Given the description of an element on the screen output the (x, y) to click on. 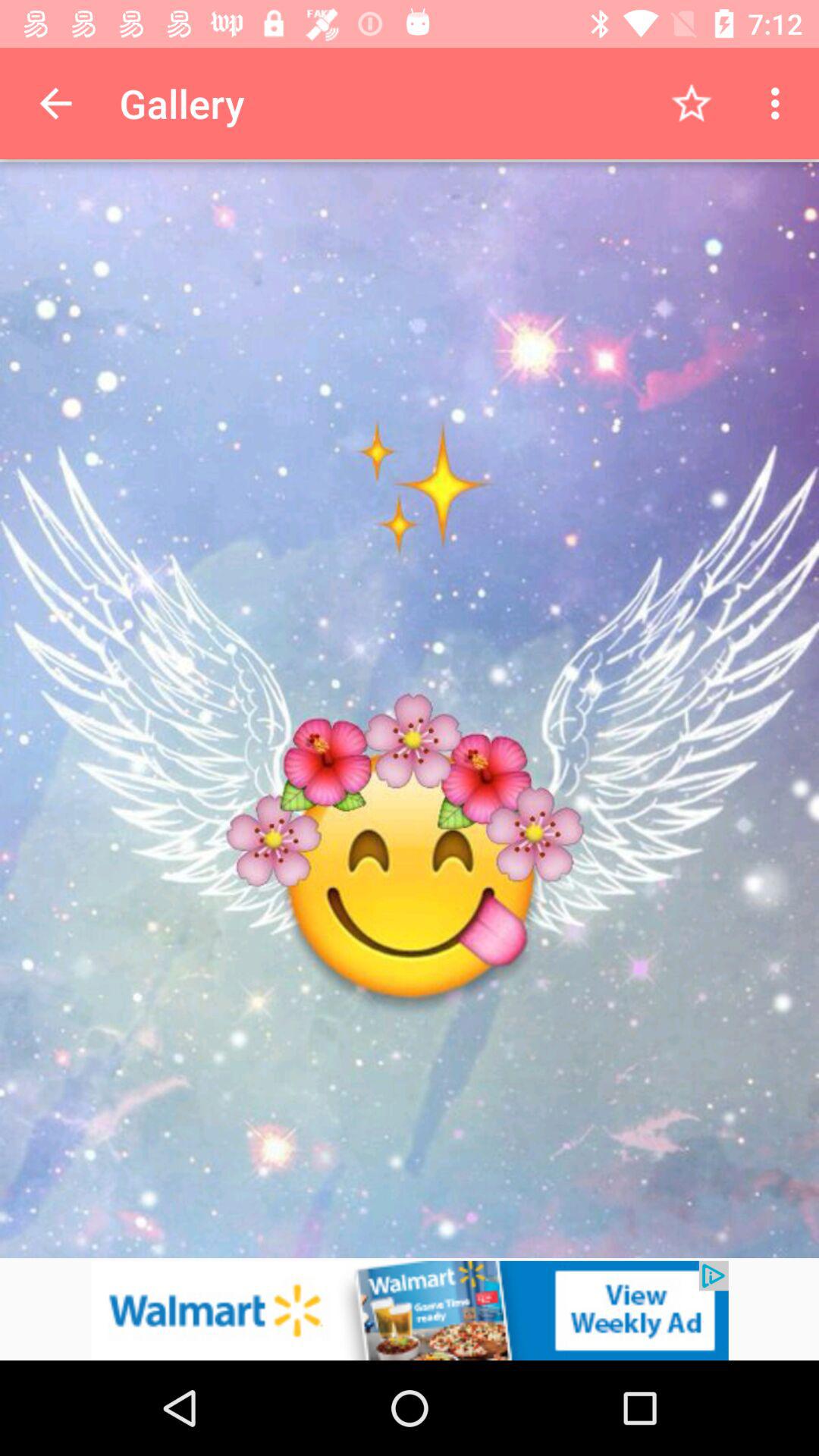
advertisent page (409, 1310)
